Given the description of an element on the screen output the (x, y) to click on. 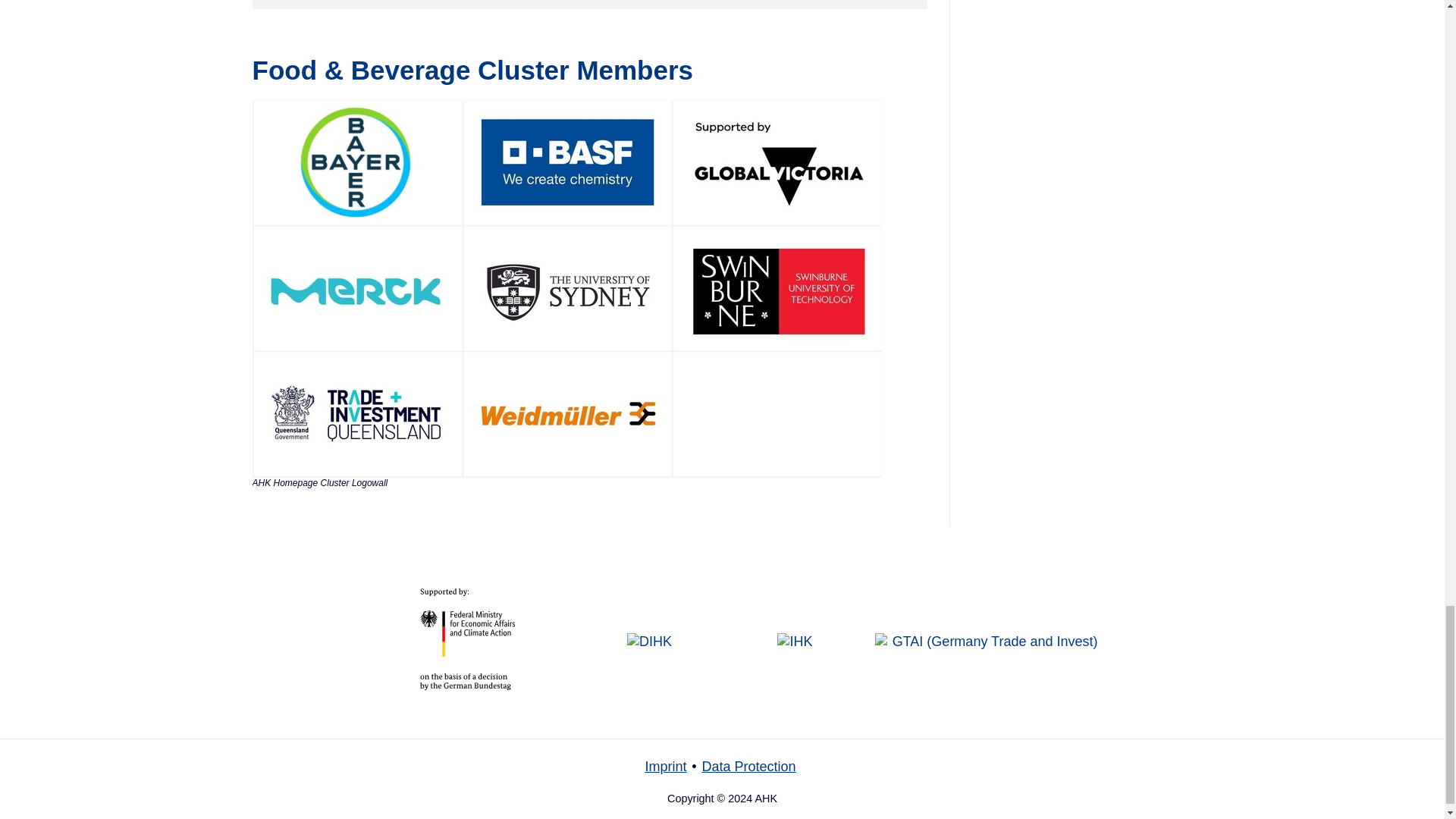
Footer (721, 773)
Imprint (665, 766)
Data Protection (747, 766)
